Given the description of an element on the screen output the (x, y) to click on. 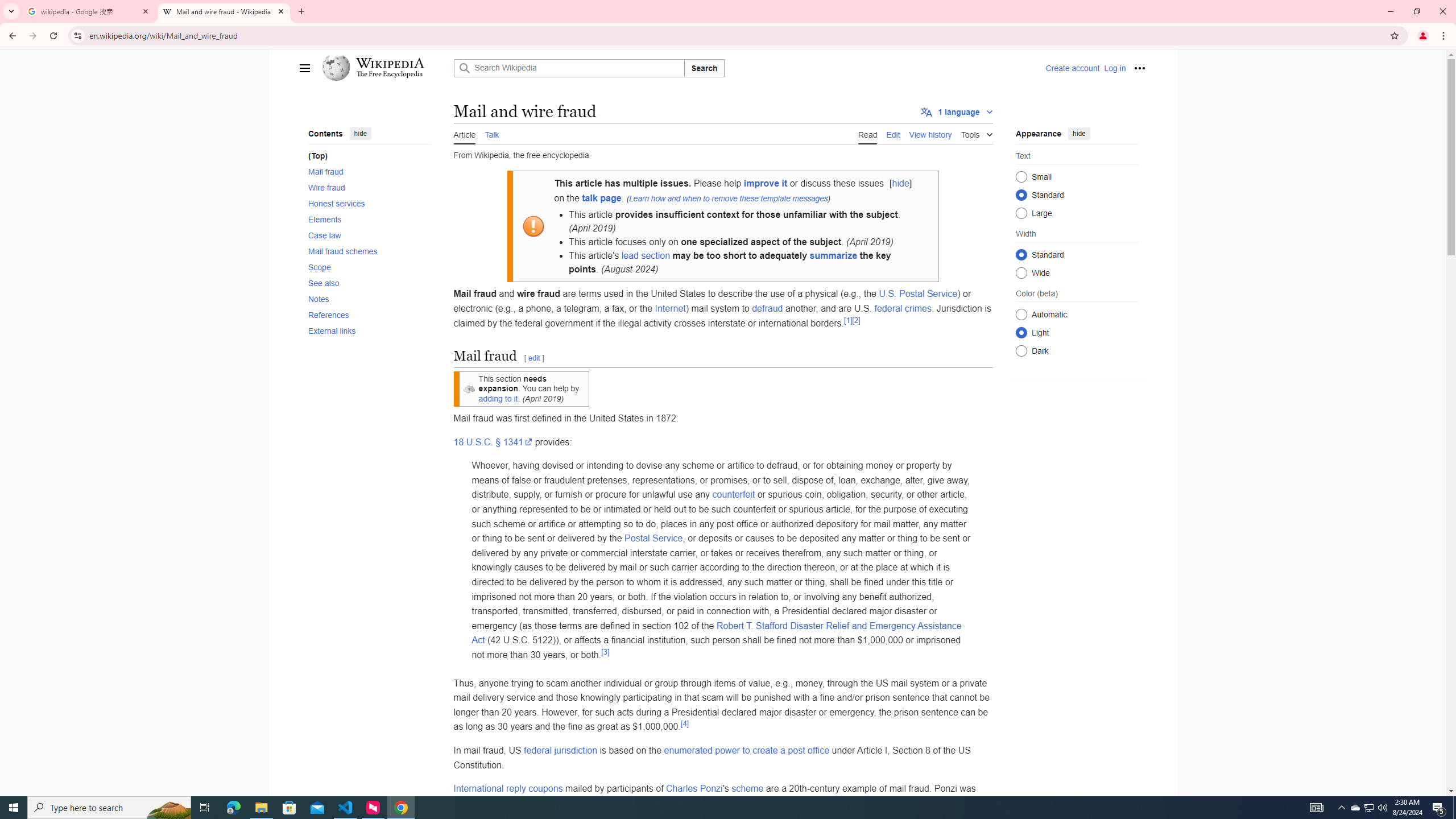
Mail and wire fraud - Wikipedia (224, 11)
AutomationID: toc-See_also (365, 282)
Learn how and when to remove these template messages (728, 198)
[icon] (468, 388)
External links (368, 330)
edit (533, 357)
Wikipedia The Free Encyclopedia (384, 68)
AutomationID: ca-view (867, 133)
Small (1020, 176)
federal crimes (902, 308)
Create account (1072, 67)
